Given the description of an element on the screen output the (x, y) to click on. 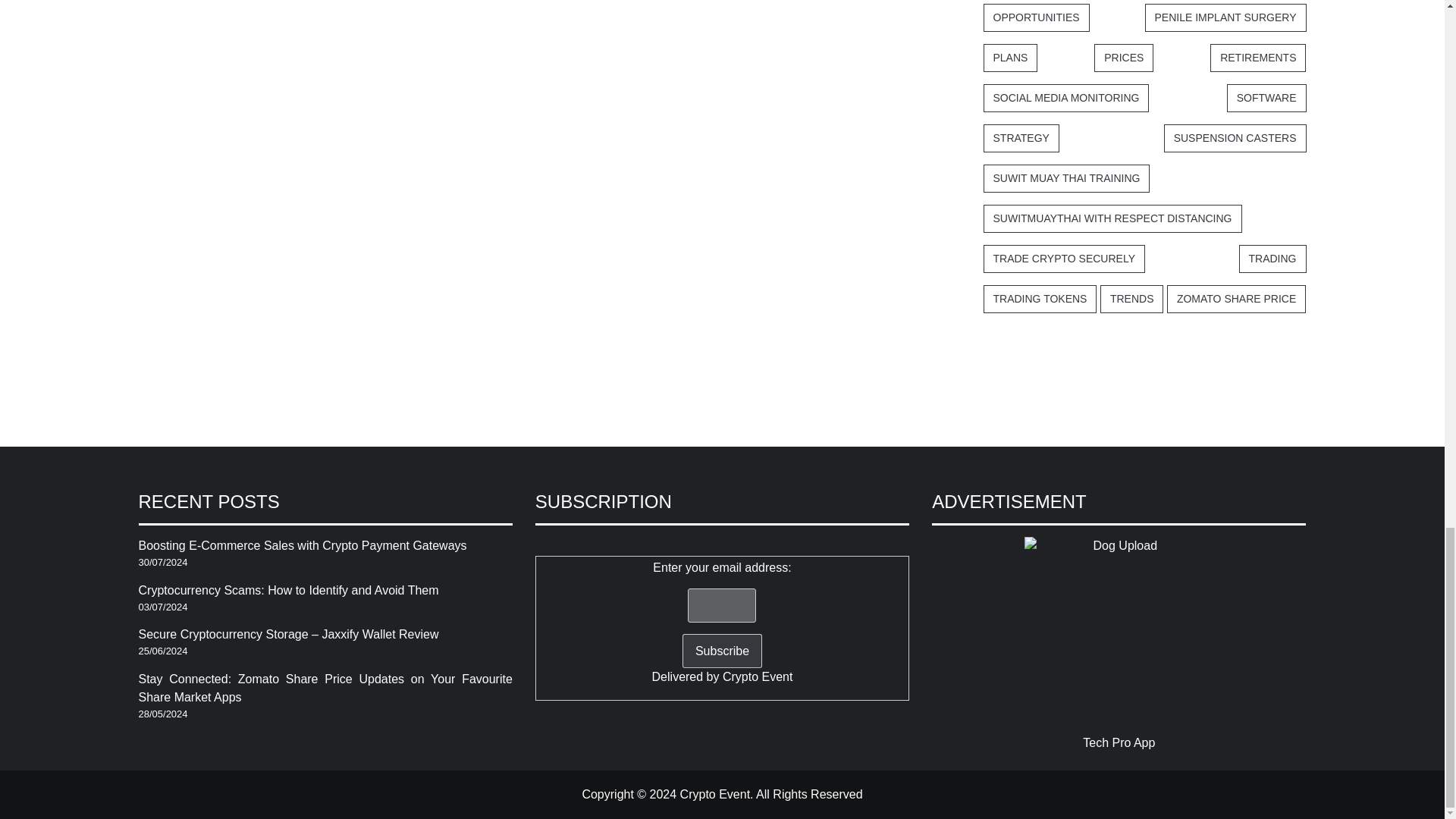
Subscribe (721, 650)
Dog Upload (1119, 631)
